Given the description of an element on the screen output the (x, y) to click on. 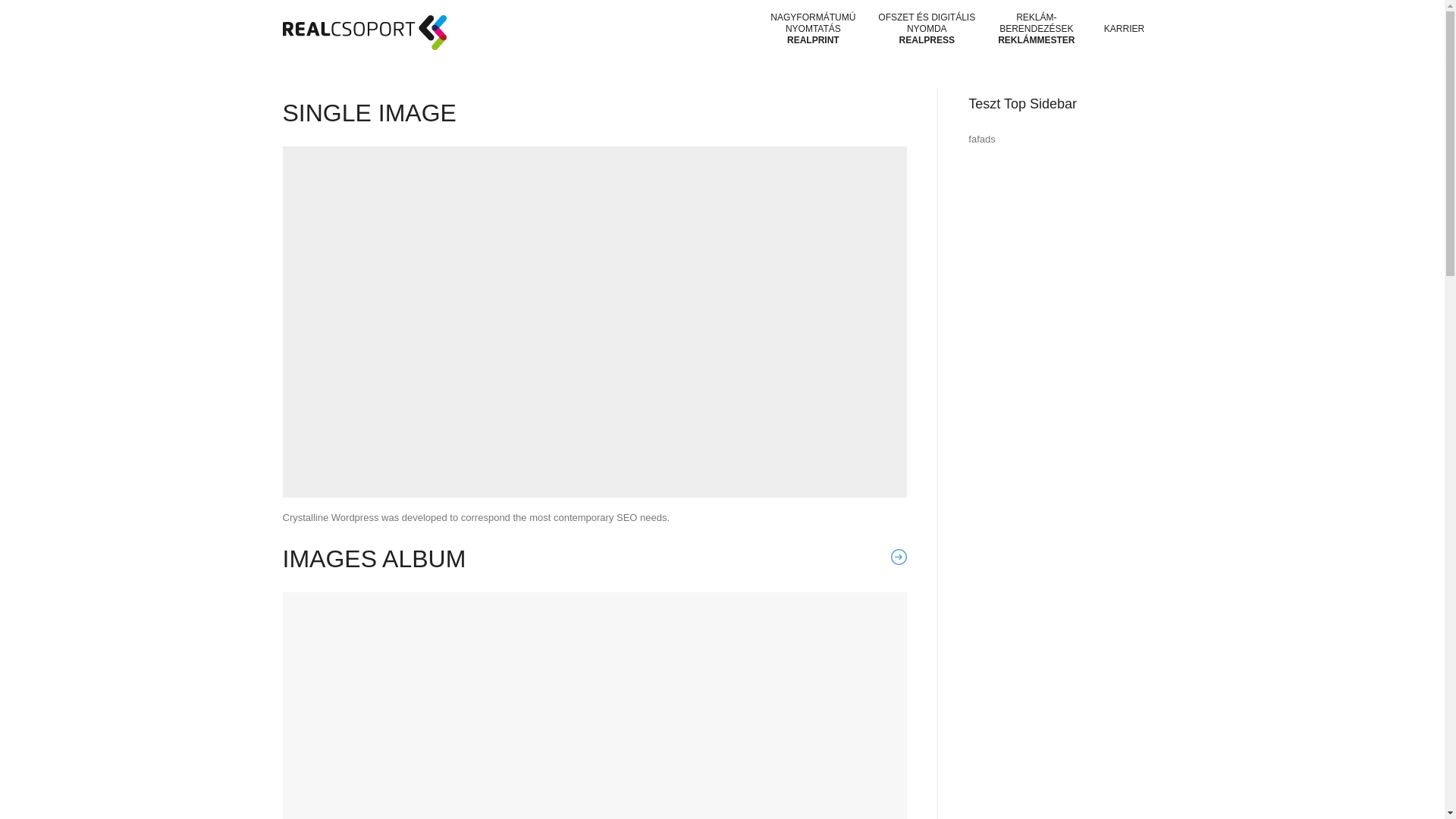
RealCsoport (363, 32)
KARRIER (1123, 28)
SINGLE IMAGE (368, 112)
IMAGES ALBUM (373, 558)
